Given the description of an element on the screen output the (x, y) to click on. 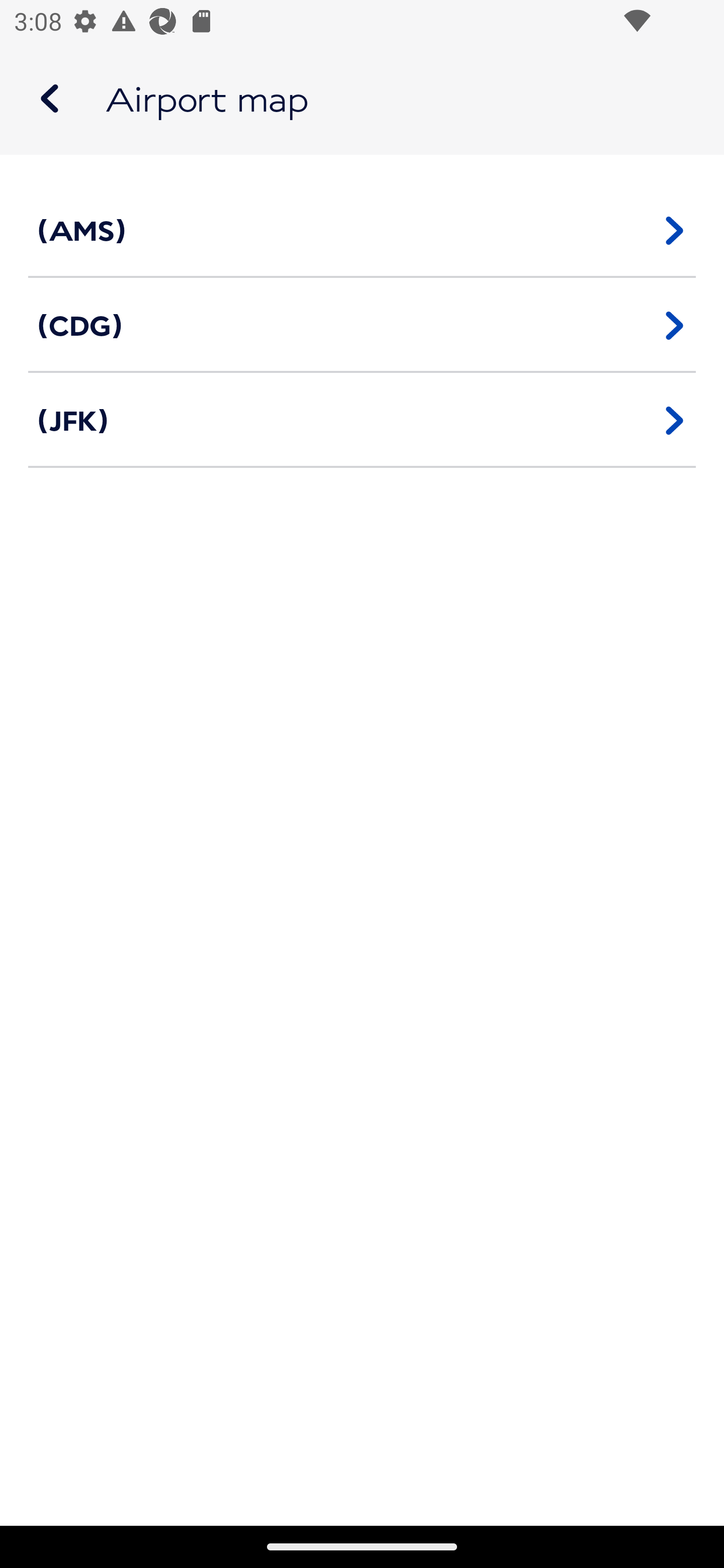
Airport map (362, 98)
 (AMS) (361, 230)
 (CDG) (361, 325)
 (JFK) (361, 420)
